Given the description of an element on the screen output the (x, y) to click on. 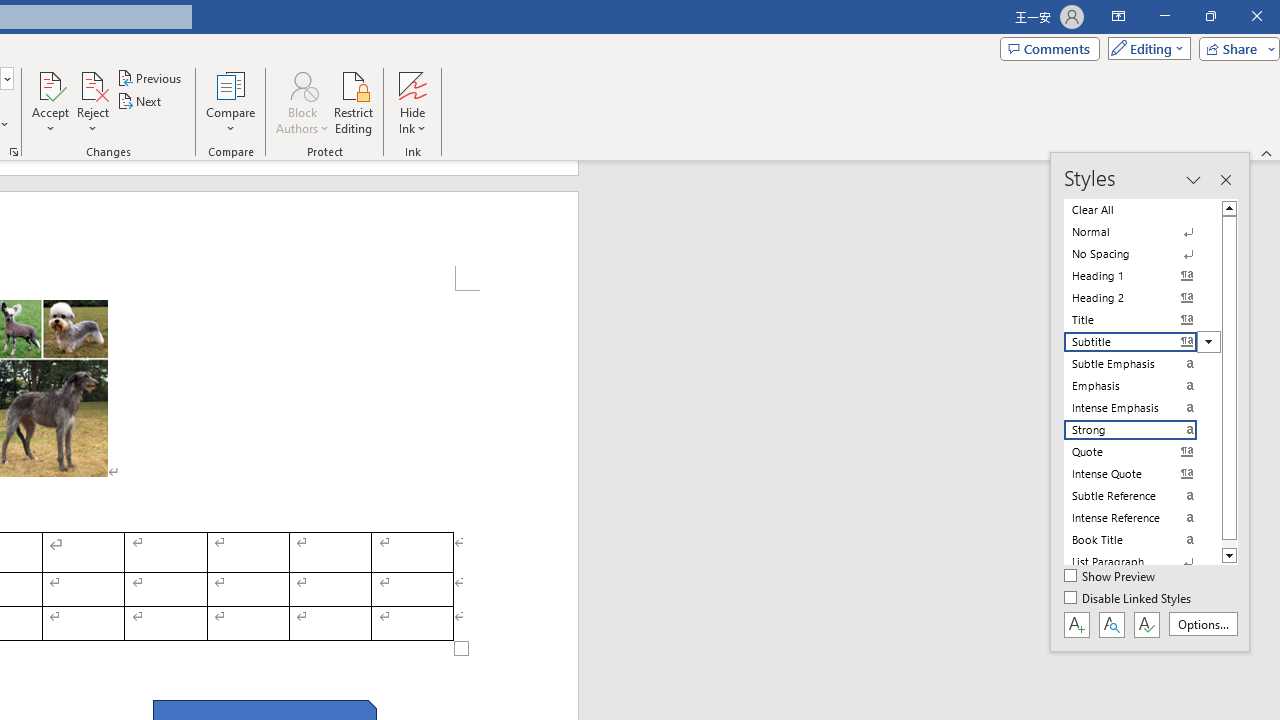
Clear All (1142, 209)
Hide Ink (412, 84)
No Spacing (1142, 253)
Emphasis (1142, 385)
Intense Emphasis (1142, 407)
Class: NetUIButton (1146, 624)
Subtle Emphasis (1142, 363)
Intense Reference (1142, 517)
Show Preview (1110, 577)
Change Tracking Options... (13, 151)
